Given the description of an element on the screen output the (x, y) to click on. 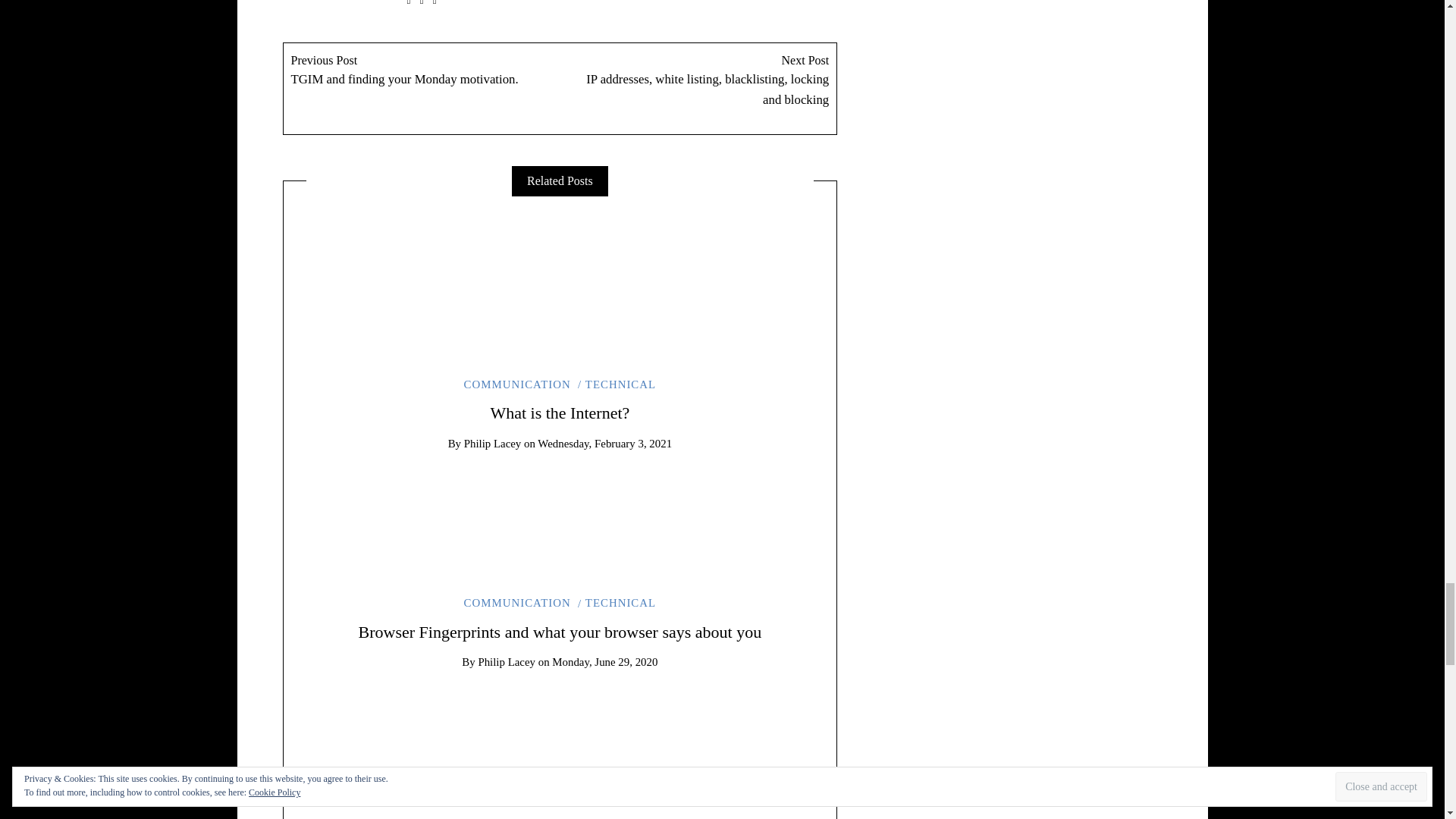
TECHNICAL (617, 603)
Posts by Philip Lacey (421, 88)
Posts by Philip Lacey (506, 662)
Browser Fingerprints and what your browser says about you (492, 443)
Browser Fingerprints and what your browser says about you (558, 508)
What is the Internet? (559, 631)
TECHNICAL (558, 412)
Science Fiction to Science Fact (617, 384)
Browser Fingerprints and what your browser says about you (558, 736)
What is the Internet? (559, 631)
Philip Lacey (558, 412)
What is the Internet? (492, 443)
COMMUNICATION (558, 277)
